Given the description of an element on the screen output the (x, y) to click on. 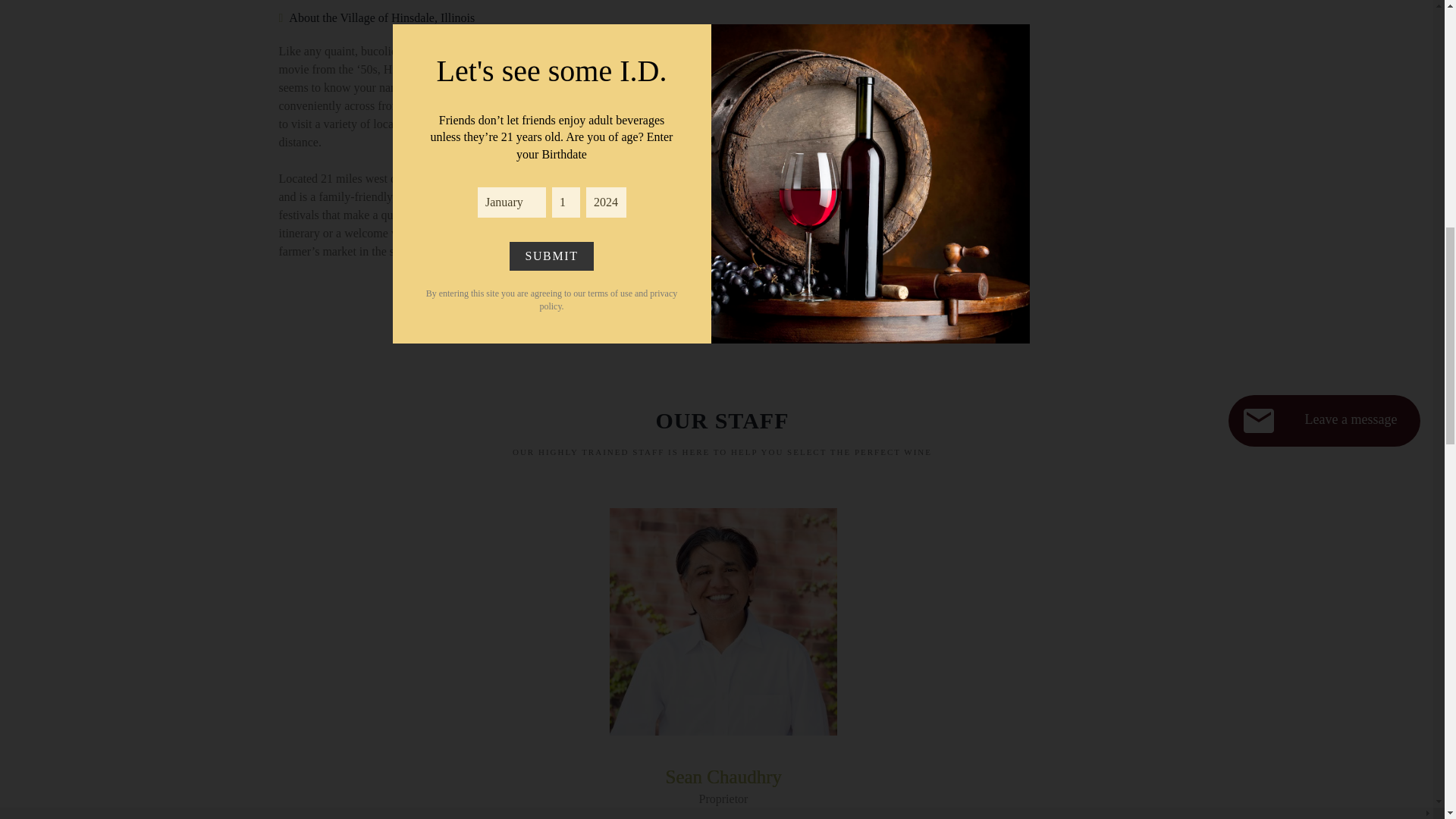
Sean Chaudhry (722, 776)
